Given the description of an element on the screen output the (x, y) to click on. 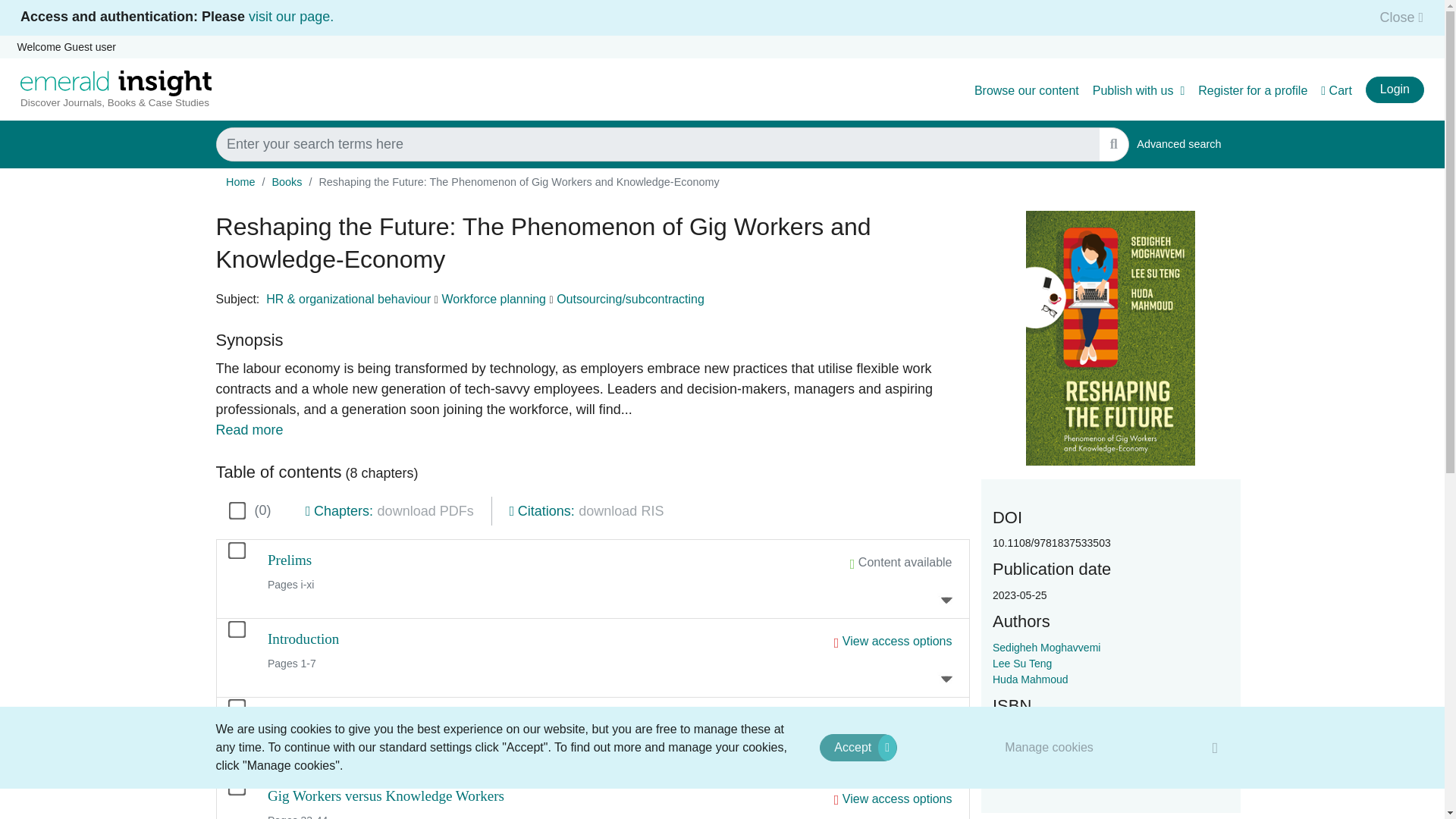
Close (1397, 17)
SUBMIT (1113, 143)
Register for a profile (1252, 90)
Login (1394, 89)
visit our page. (290, 16)
Cart (1336, 90)
Please select an item to enable file download (620, 511)
Browse our content (1026, 90)
Go to page for Introduction. (303, 638)
